Given the description of an element on the screen output the (x, y) to click on. 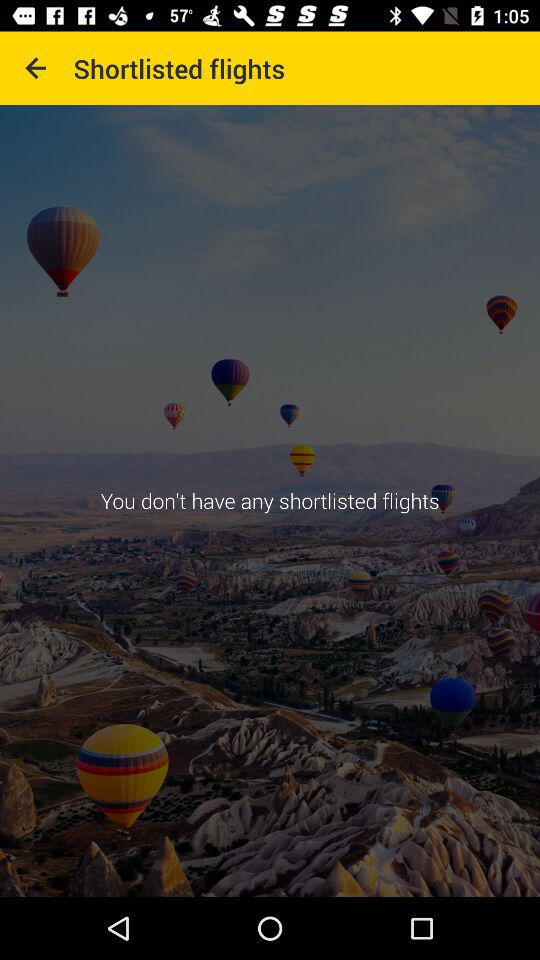
select the icon to the left of shortlisted flights (36, 68)
